Given the description of an element on the screen output the (x, y) to click on. 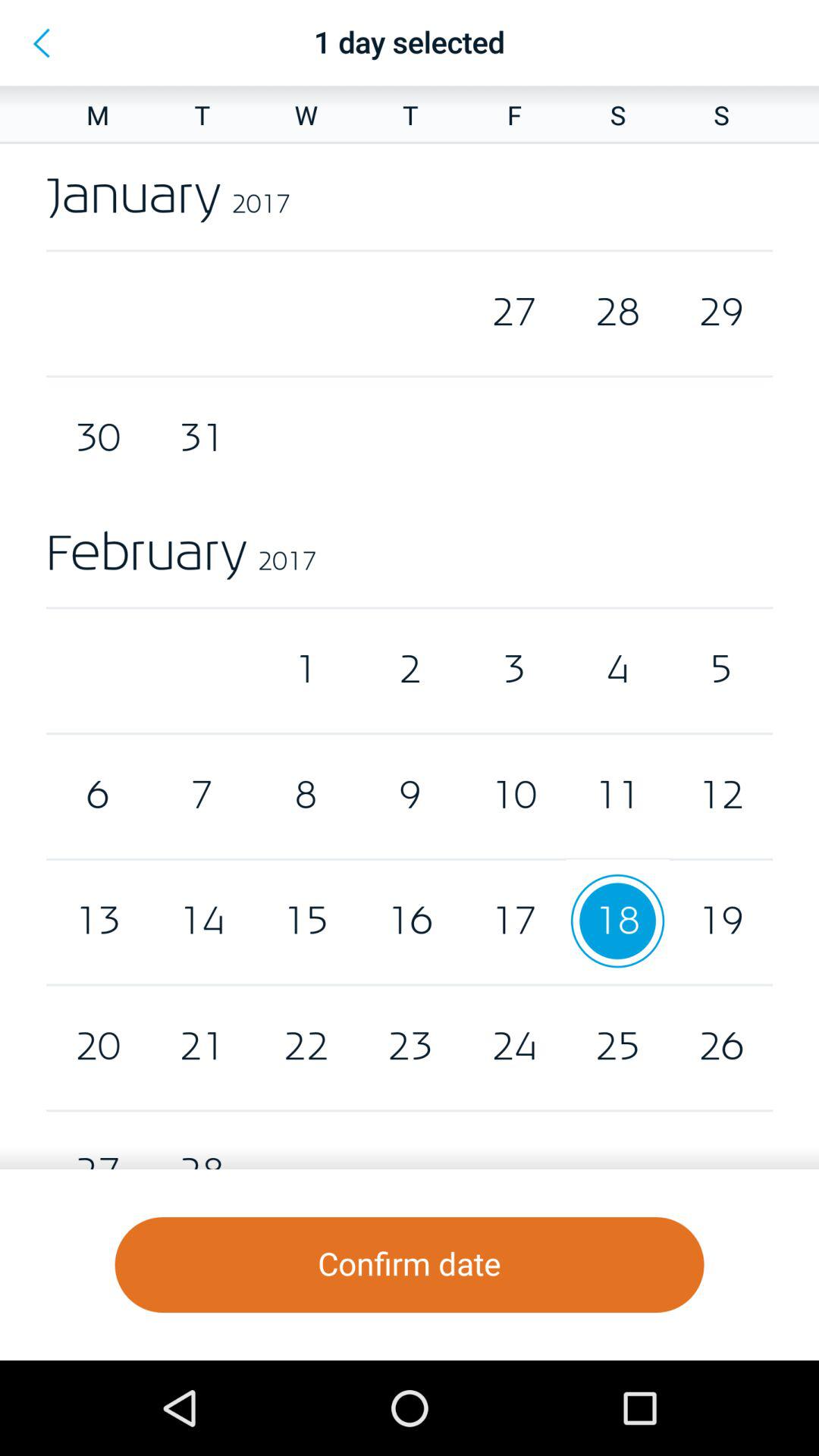
select the confirm date icon (409, 1264)
